Given the description of an element on the screen output the (x, y) to click on. 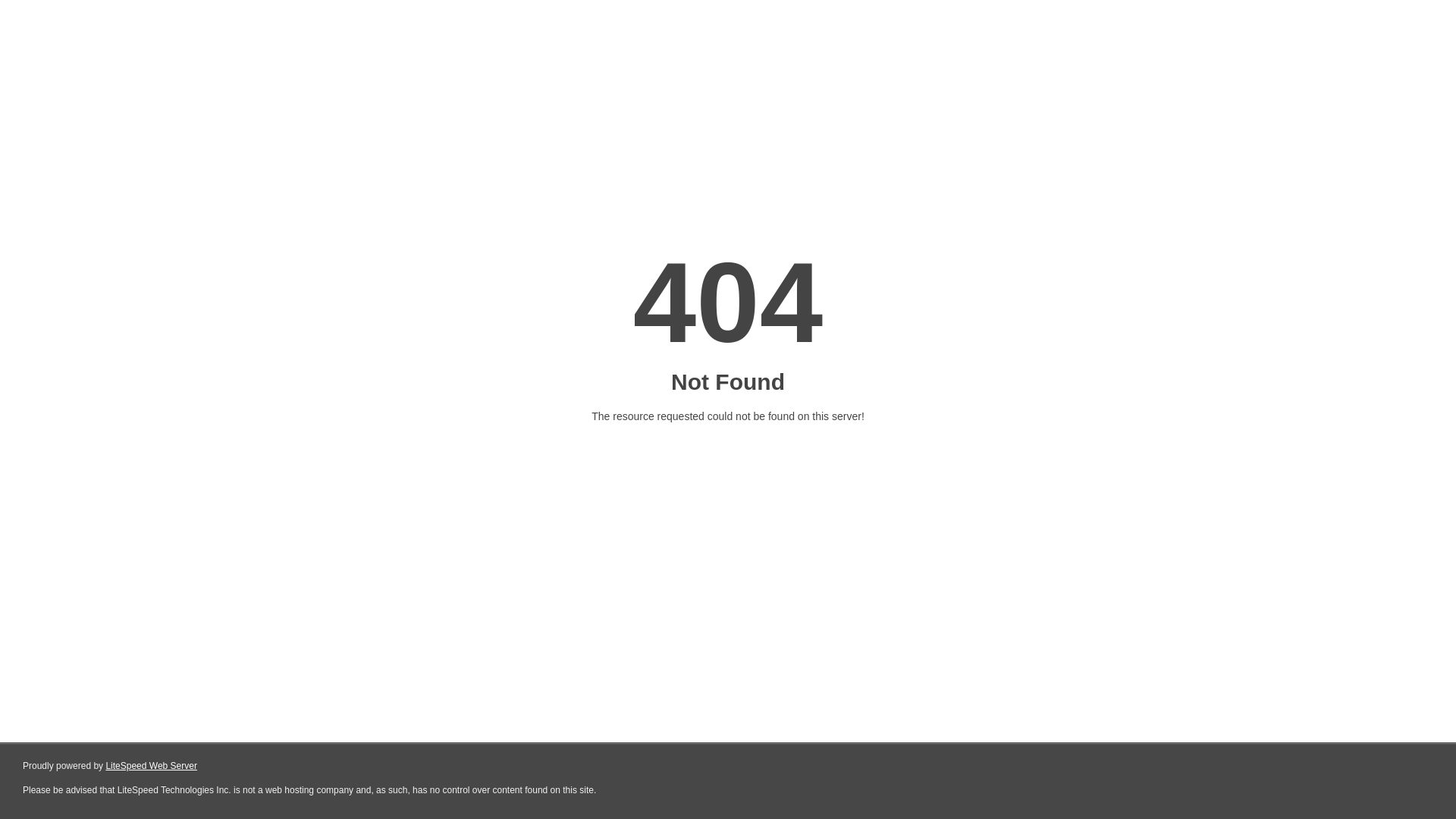
LiteSpeed Web Server Element type: text (151, 765)
